Given the description of an element on the screen output the (x, y) to click on. 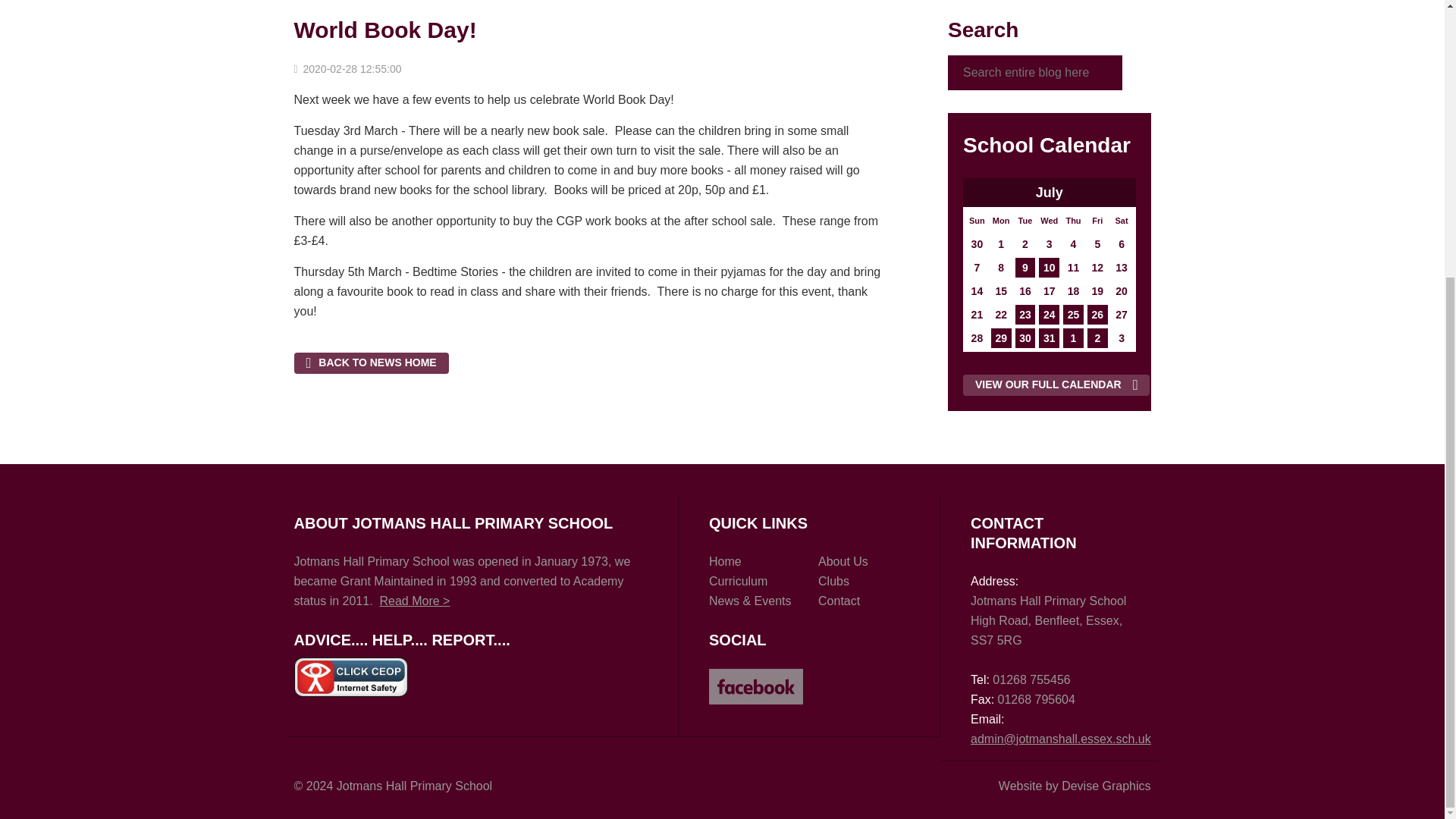
VIEW OUR FULL CALENDAR (1056, 384)
BACK TO NEWS HOME (371, 362)
